Given the description of an element on the screen output the (x, y) to click on. 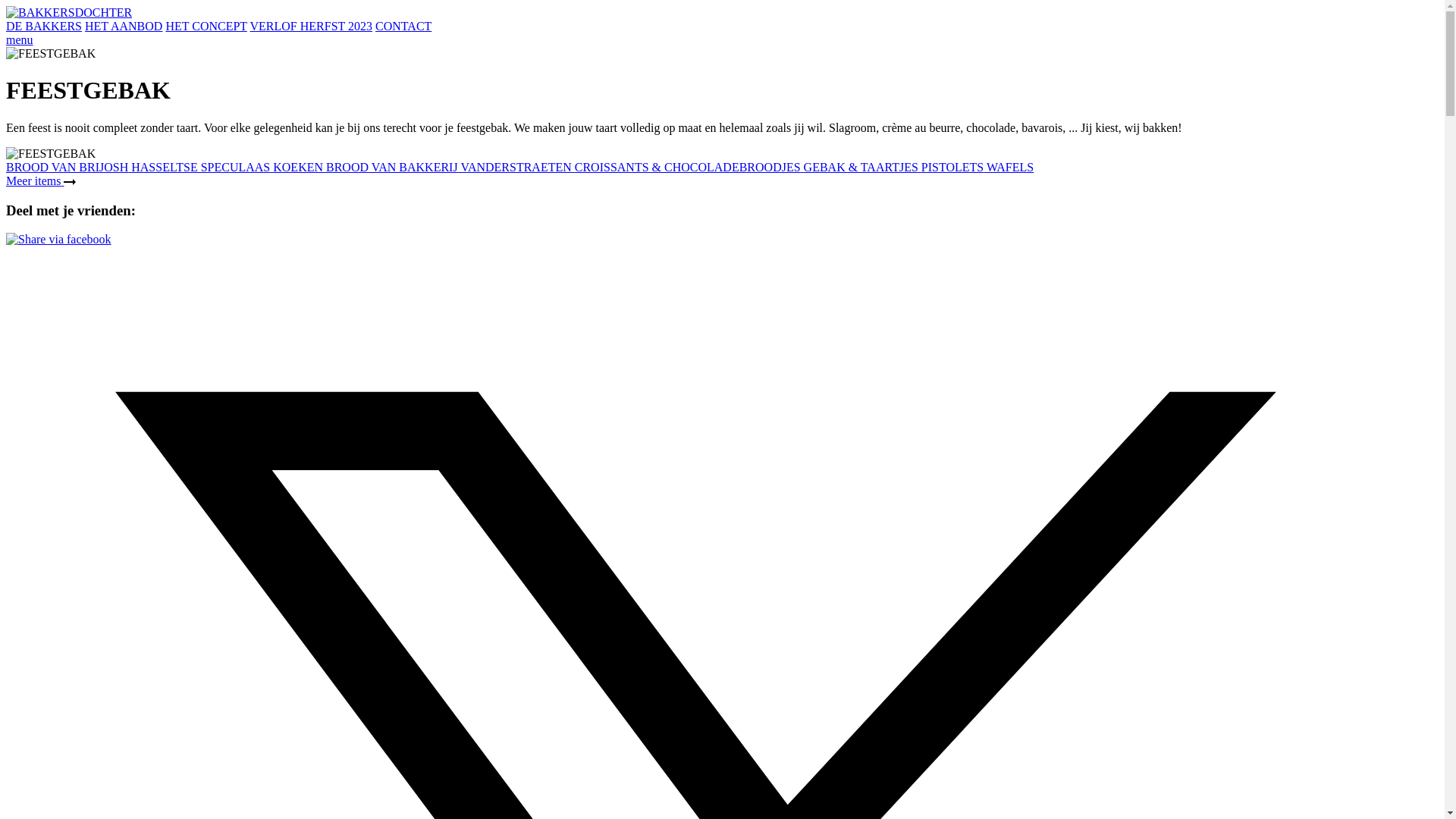
BAKKERSDOCHTER Element type: hover (68, 12)
DE BAKKERS Element type: text (43, 25)
GEBAK & TAARTJES Element type: text (862, 166)
VERLOF HERFST 2023 Element type: text (311, 25)
HET CONCEPT Element type: text (205, 25)
CROISSANTS & CHOCOLADEBROODJES Element type: text (688, 166)
WAFELS Element type: text (1009, 166)
BROOD VAN BRIJOSH Element type: text (68, 166)
BROOD VAN BAKKERIJ VANDERSTRAETEN Element type: text (450, 166)
HASSELTSE SPECULAAS Element type: text (202, 166)
Share via facebook Element type: hover (58, 238)
KOEKEN Element type: text (299, 166)
menu Element type: text (19, 39)
PISTOLETS Element type: text (953, 166)
Meer items Element type: text (40, 180)
HET AANBOD Element type: text (123, 25)
CONTACT Element type: text (403, 25)
